Given the description of an element on the screen output the (x, y) to click on. 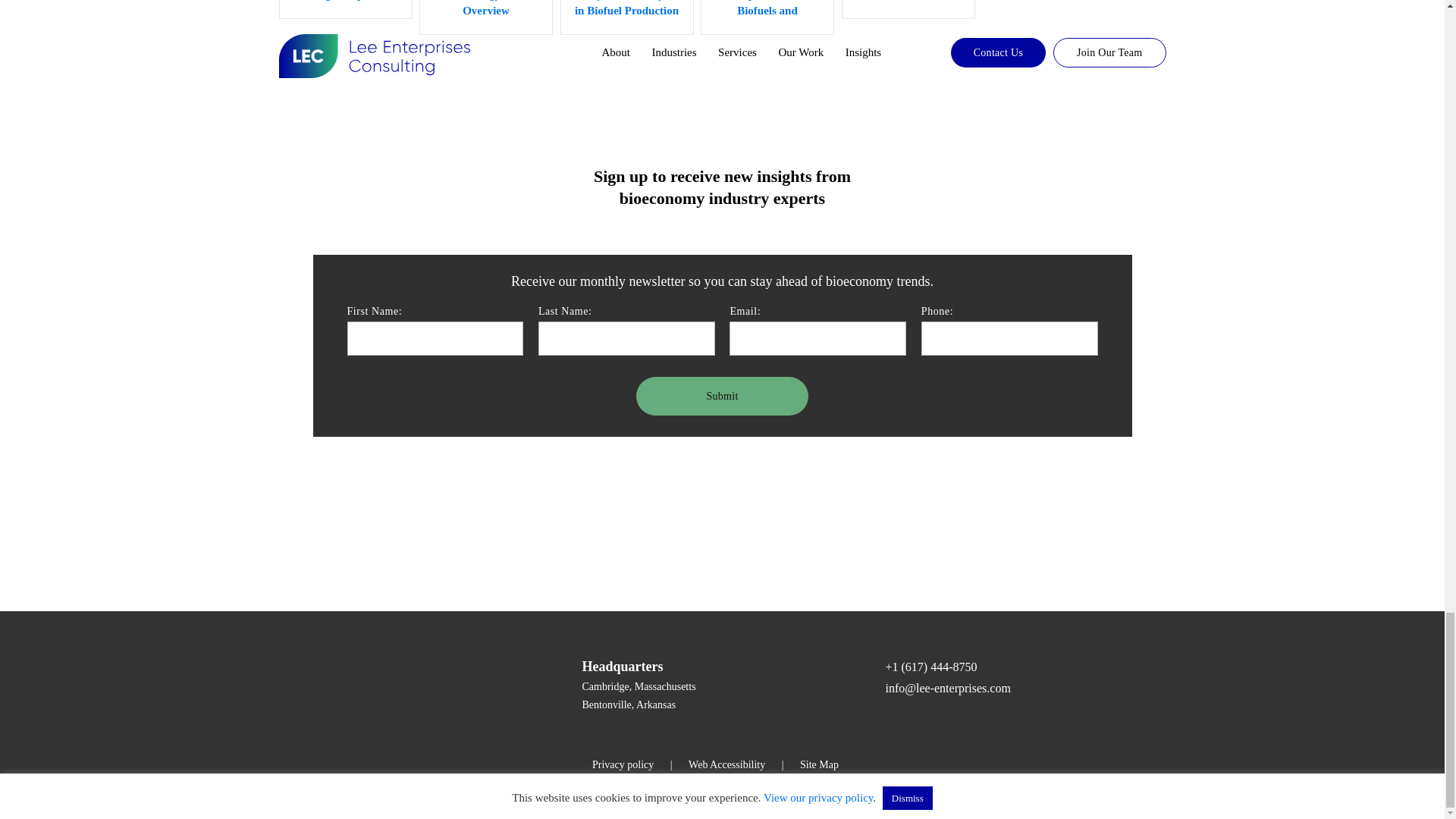
Bioenergy:  An Overview (486, 18)
The Expert Witness in Biofuels and Biochemicals Litigation (767, 18)
Submit (722, 395)
Biofuels Consultants (908, 9)
Catalysts and Enzymes in Biofuel Production (626, 18)
Footer Logo (385, 681)
Biogas Experts (345, 9)
